Given the description of an element on the screen output the (x, y) to click on. 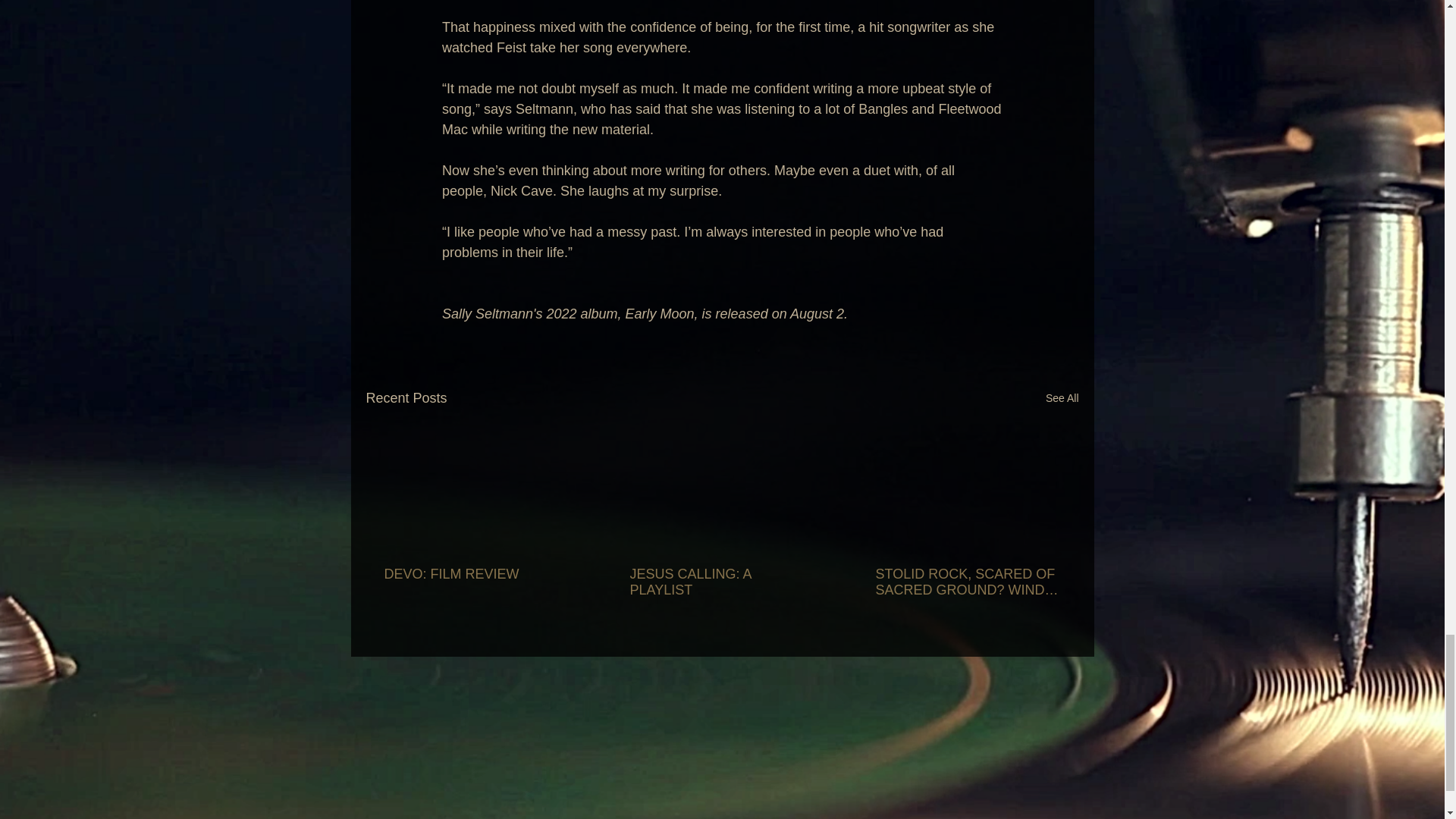
DEVO: FILM REVIEW (475, 574)
JESUS CALLING: A PLAYLIST (720, 582)
See All (1061, 398)
